Given the description of an element on the screen output the (x, y) to click on. 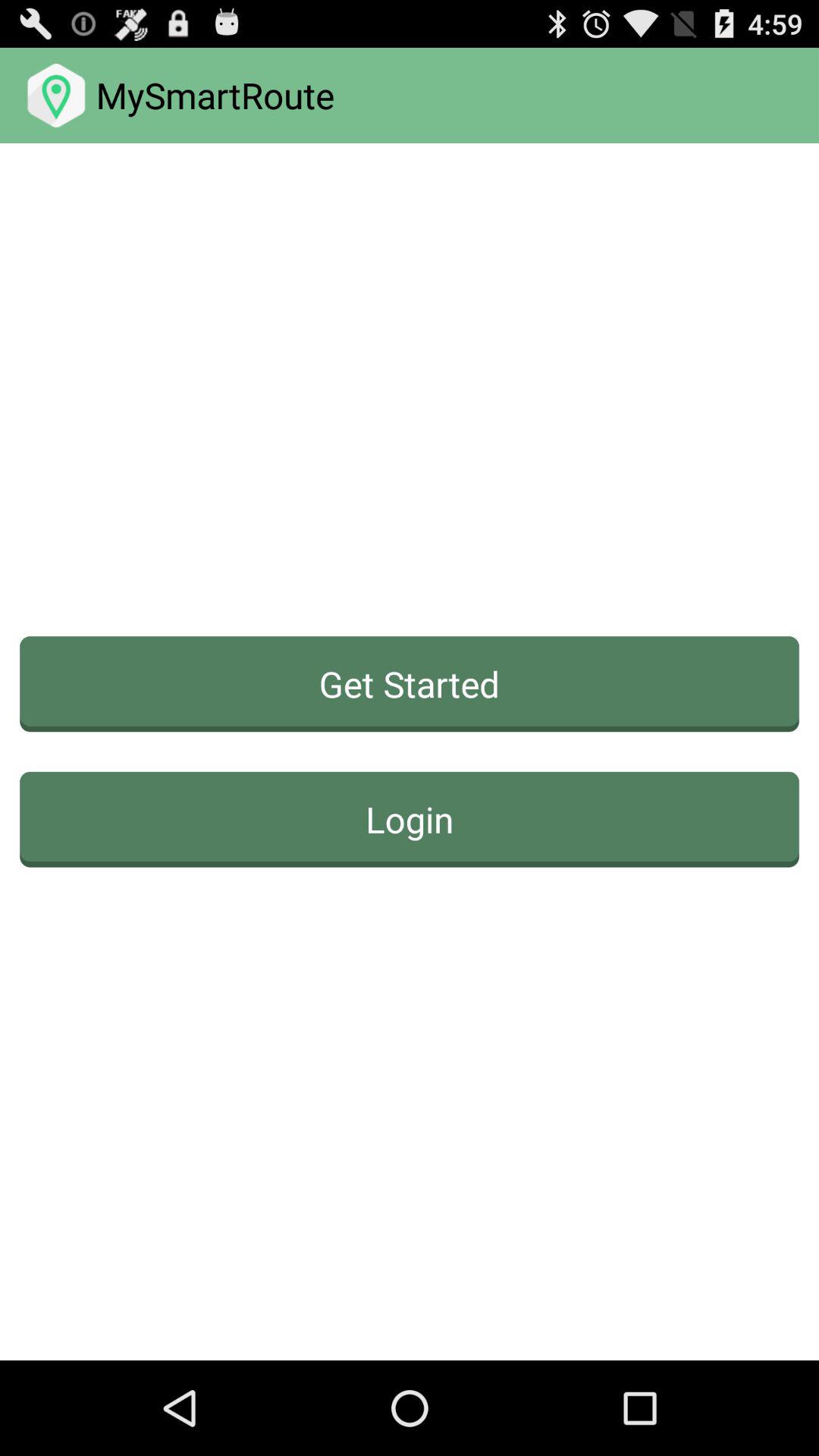
jump to the get started button (409, 683)
